Given the description of an element on the screen output the (x, y) to click on. 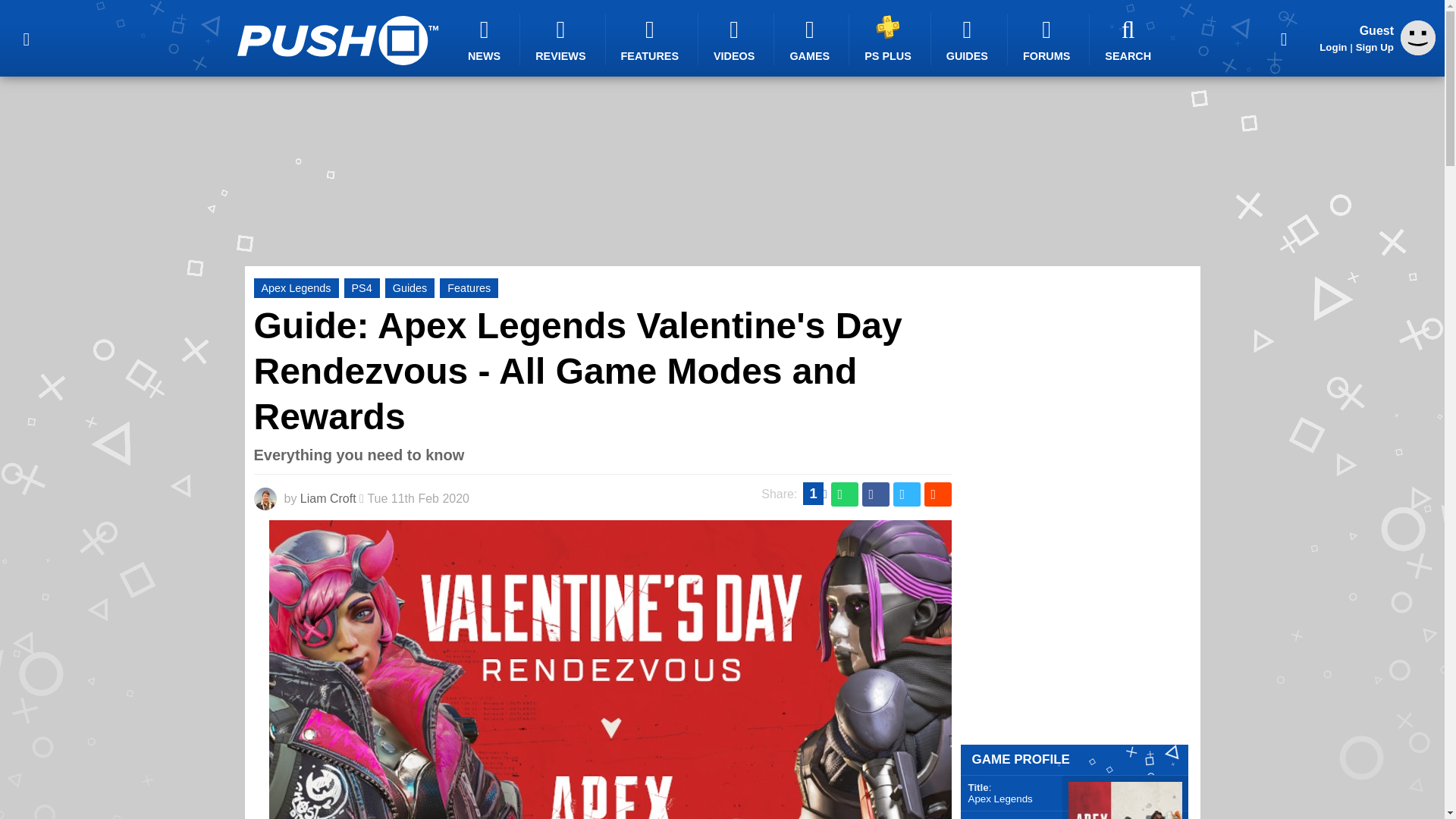
VIDEOS (736, 39)
Share This Page (1283, 37)
SEARCH (1129, 39)
GUIDES (969, 39)
REVIEWS (562, 39)
Sign Up (1374, 47)
Guest (1417, 51)
Login (1332, 47)
FORUMS (1048, 39)
Push Square (336, 40)
NEWS (485, 39)
Guest (1417, 37)
PS PLUS (889, 38)
GAMES (811, 39)
Push Square (336, 40)
